Given the description of an element on the screen output the (x, y) to click on. 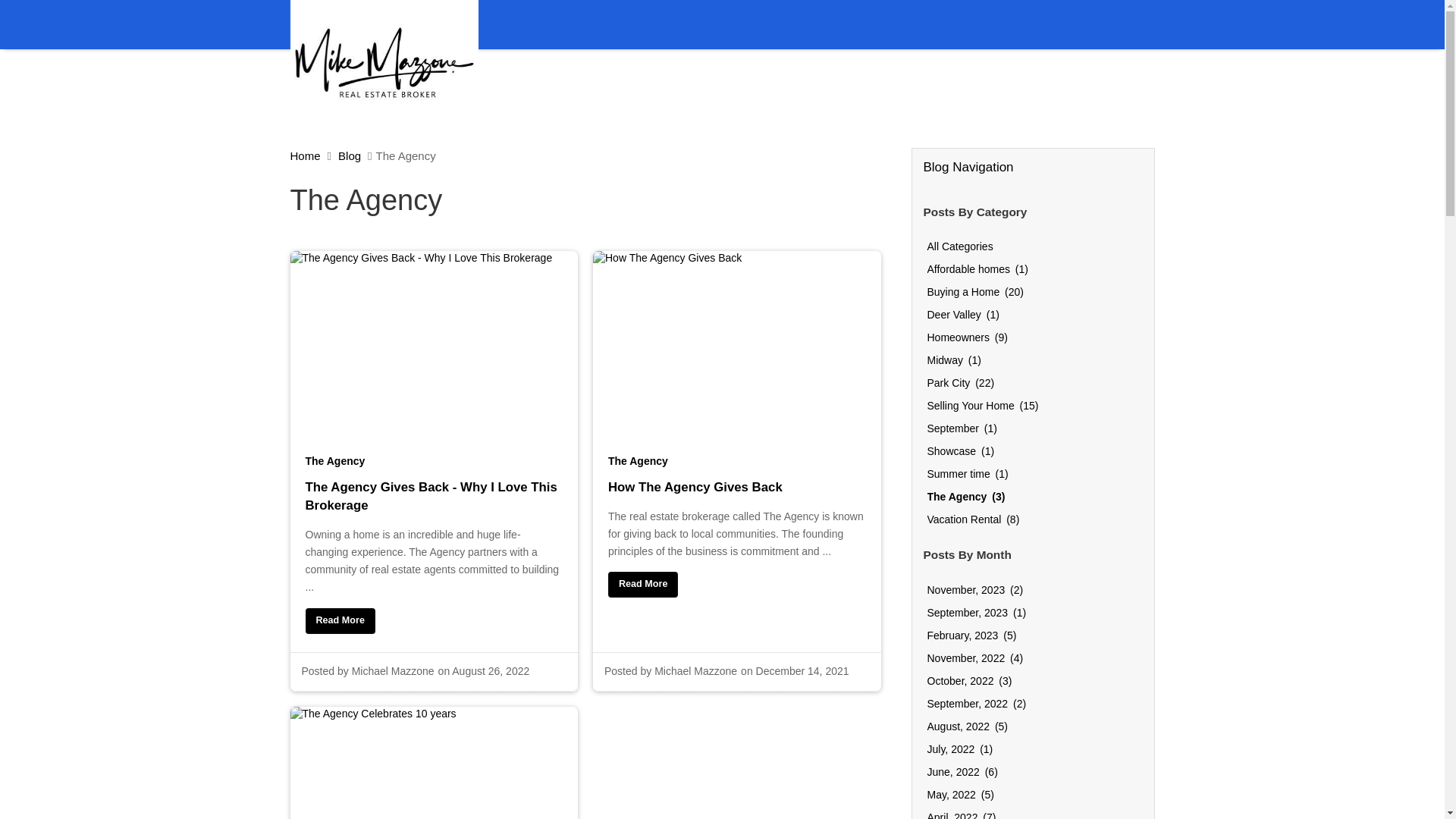
How The Agency Gives Back (737, 499)
The Agency Gives Back - Why I Love This Brokerage (433, 508)
Blog (349, 155)
The Agency Gives Back - Why I Love This Brokerage (339, 620)
Home (304, 155)
How The Agency Gives Back (643, 584)
